Given the description of an element on the screen output the (x, y) to click on. 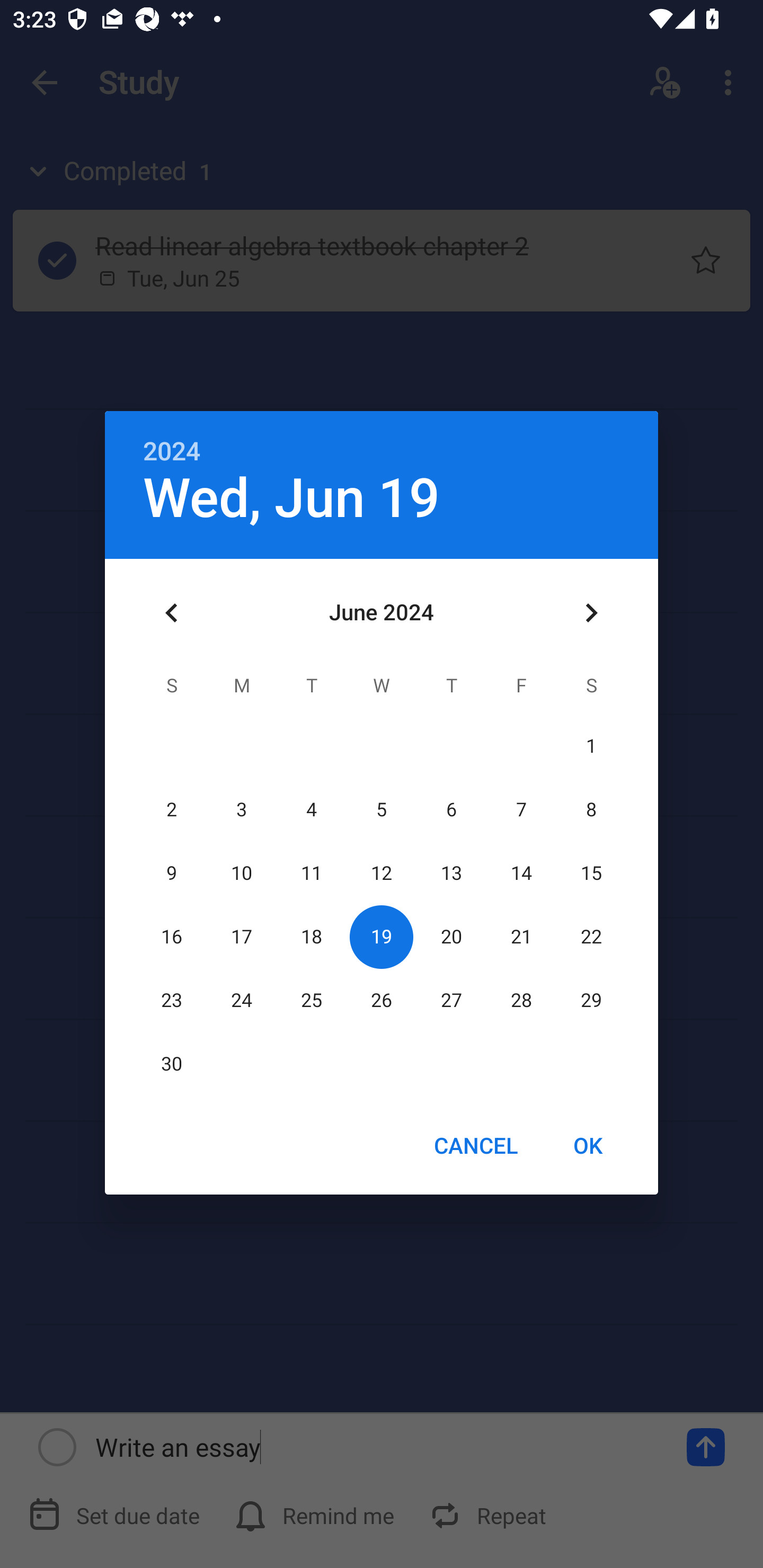
26 26 June 2024 (381, 1000)
